Given the description of an element on the screen output the (x, y) to click on. 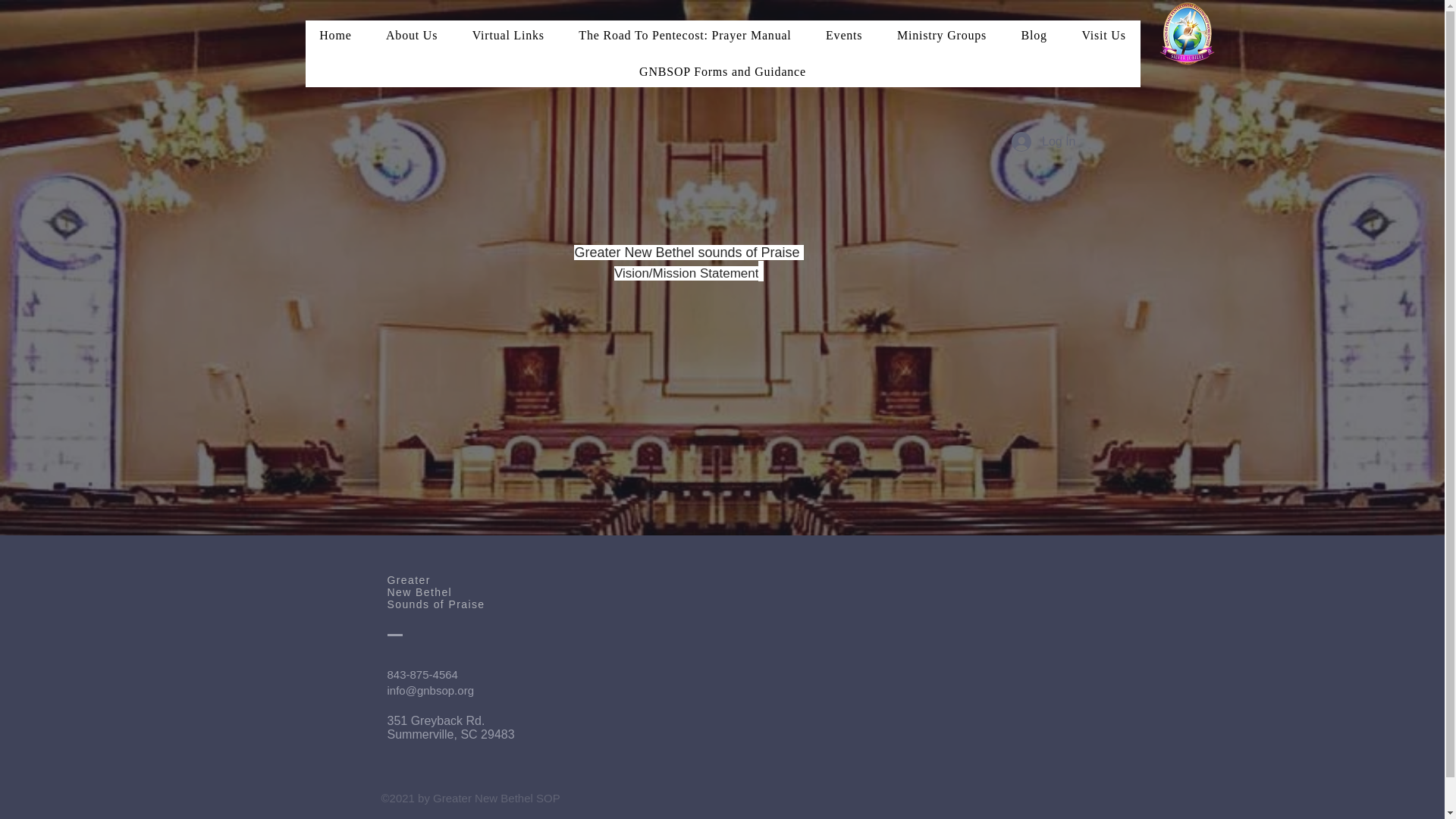
Blog (1034, 35)
Events (843, 35)
Home (334, 35)
Log In (1043, 141)
GNBSOP Forms and Guidance (722, 71)
Ministry Groups (941, 35)
Visit Us (1103, 35)
The Road To Pentecost: Prayer Manual (685, 35)
About Us (411, 35)
Virtual Links (508, 35)
